Given the description of an element on the screen output the (x, y) to click on. 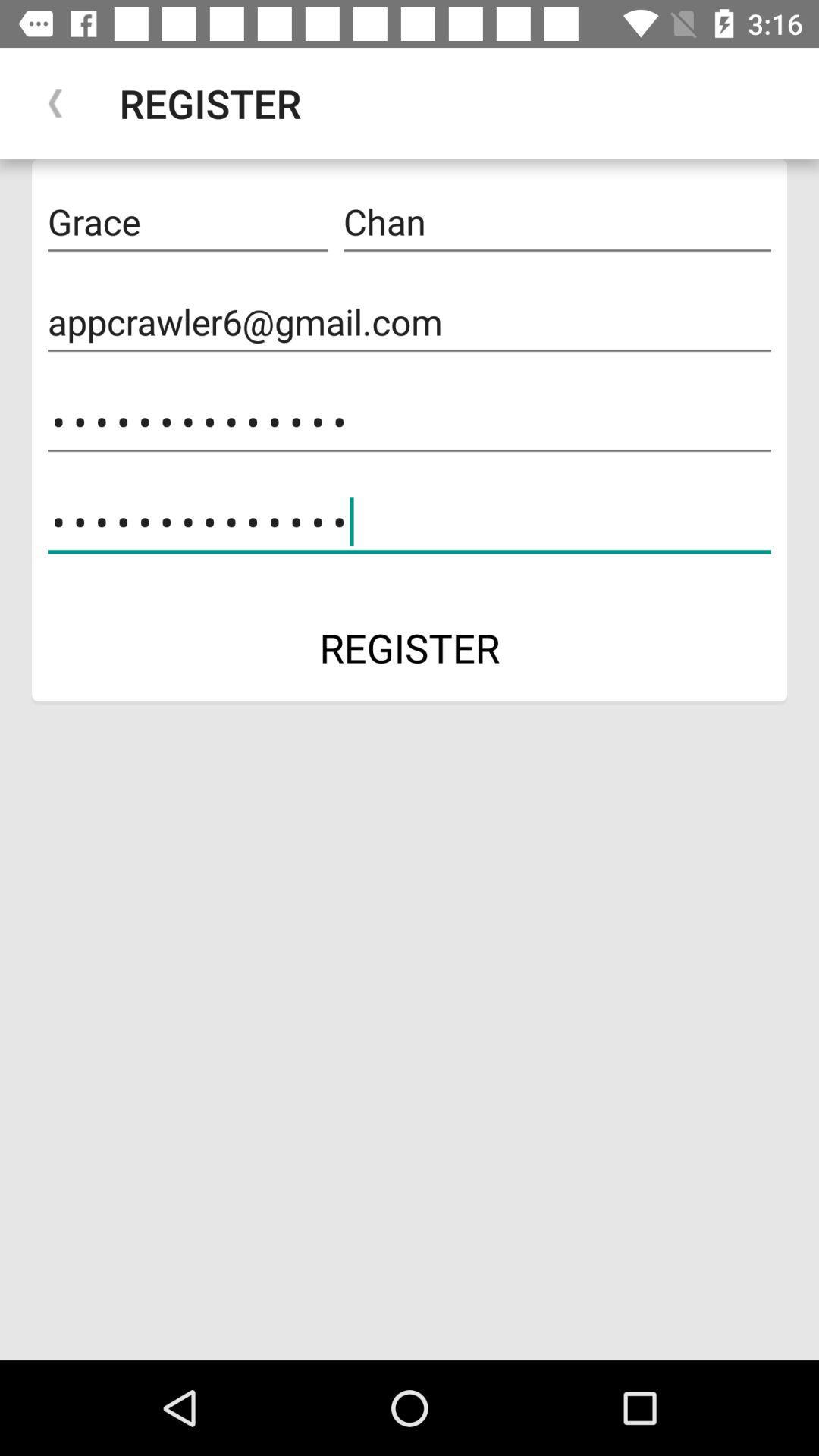
open the grace icon (187, 222)
